Given the description of an element on the screen output the (x, y) to click on. 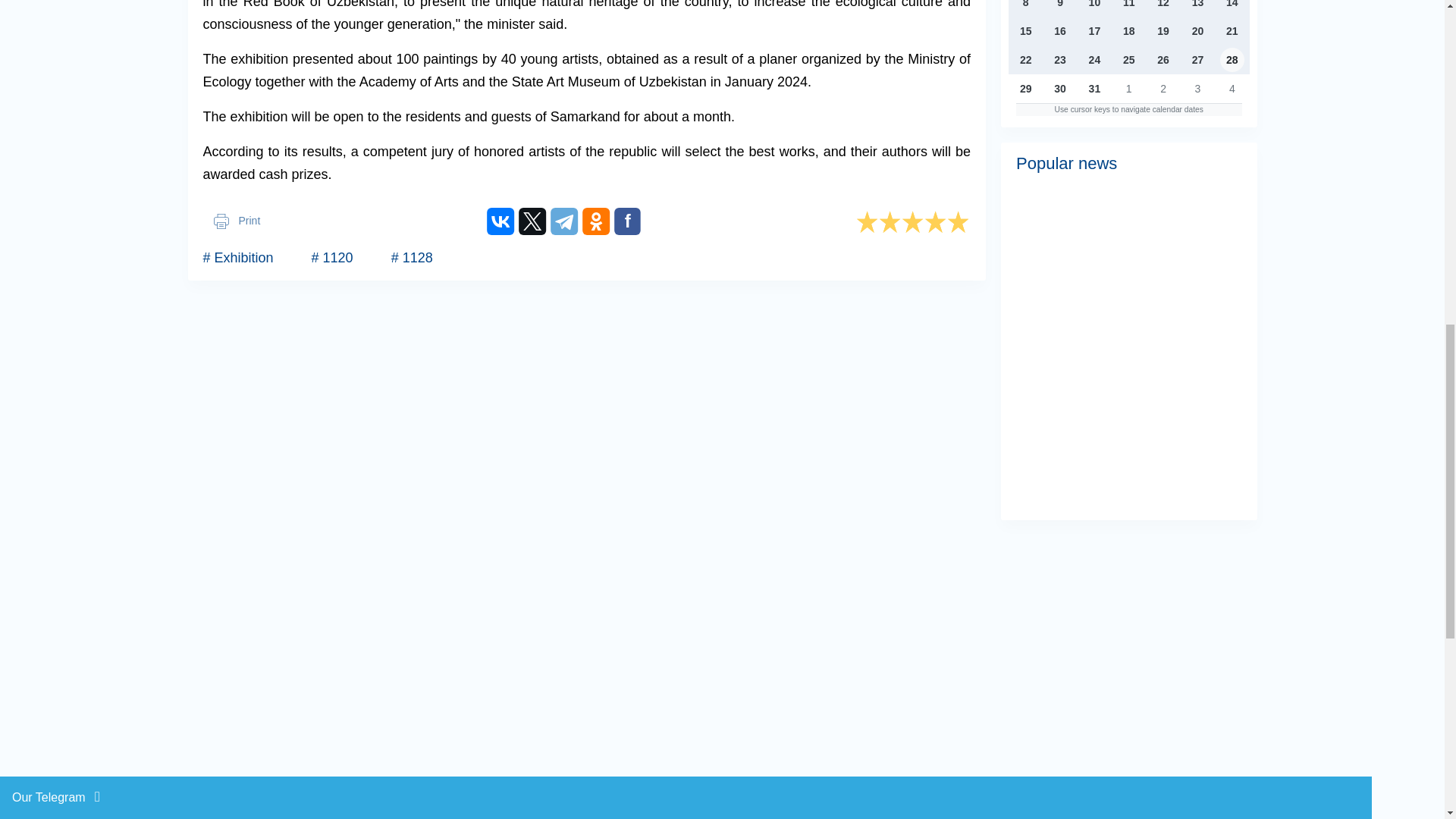
Telegram (560, 217)
Twitter (528, 217)
VKontakte (496, 217)
Odnoklassniki (592, 217)
